Given the description of an element on the screen output the (x, y) to click on. 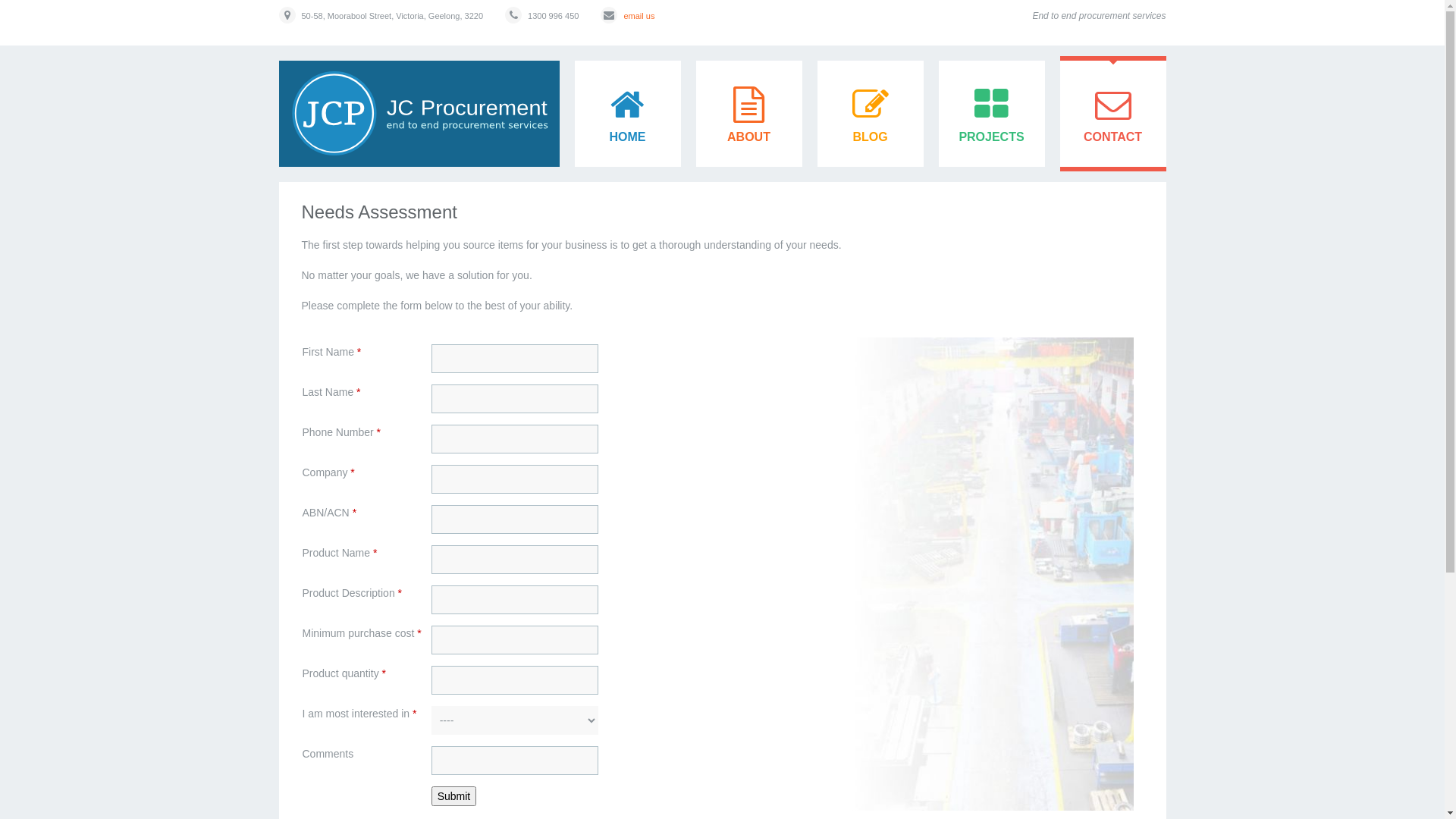
CONTACT Element type: text (1113, 113)
PROJECTS Element type: text (991, 113)
ABOUT Element type: text (749, 113)
Submit Element type: text (453, 796)
BLOG Element type: text (870, 113)
email us Element type: text (638, 15)
HOME Element type: text (627, 113)
